Given the description of an element on the screen output the (x, y) to click on. 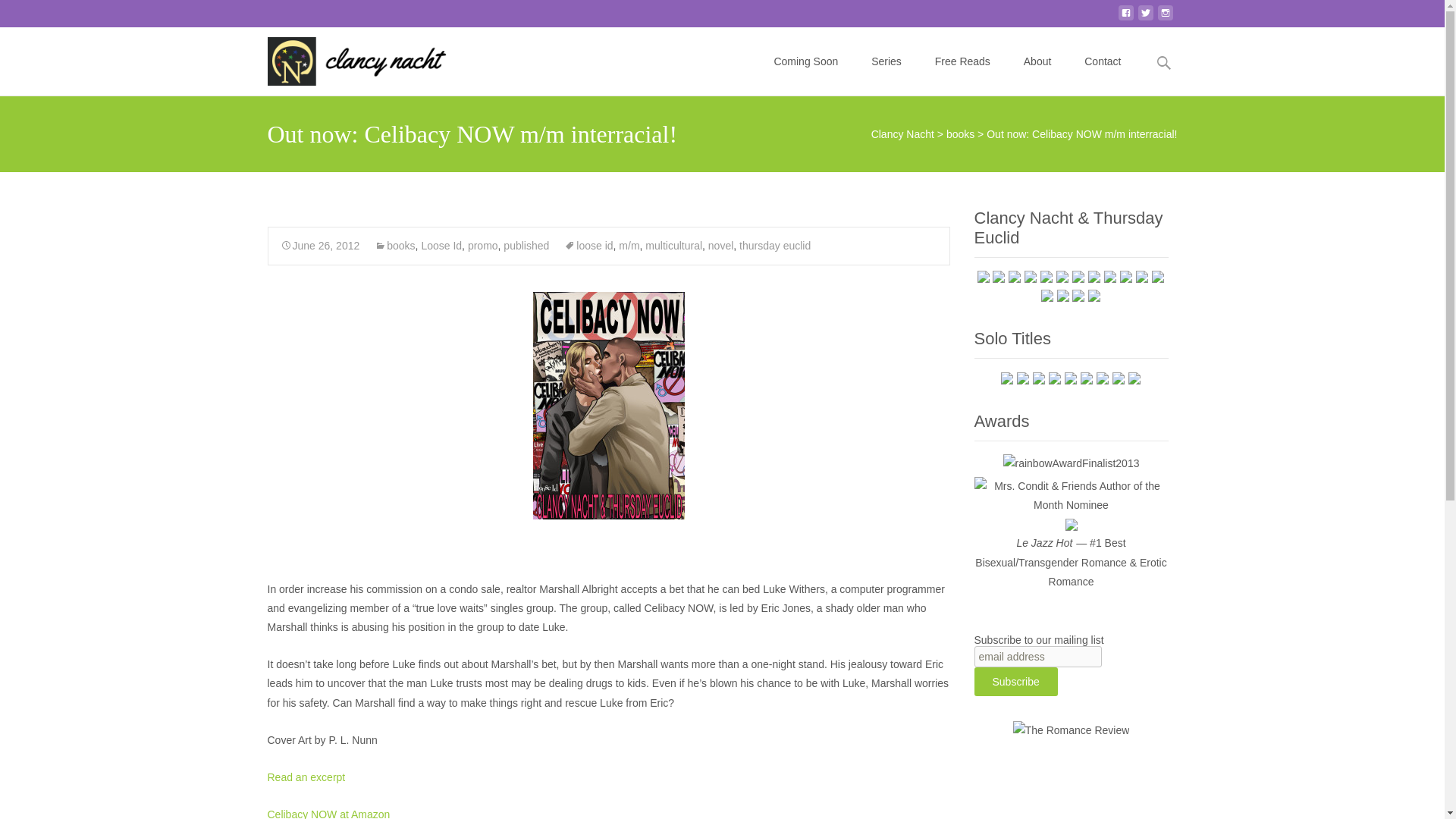
facebook (1125, 17)
thursday euclid (774, 245)
promo (482, 245)
instagram (1164, 17)
published (525, 245)
twitter (1145, 17)
Subscribe (1015, 681)
multicultural (673, 245)
Coming Soon (805, 61)
loose id (588, 245)
Go to Clancy Nacht. (902, 133)
June 26, 2012 (320, 245)
books (394, 245)
